Given the description of an element on the screen output the (x, y) to click on. 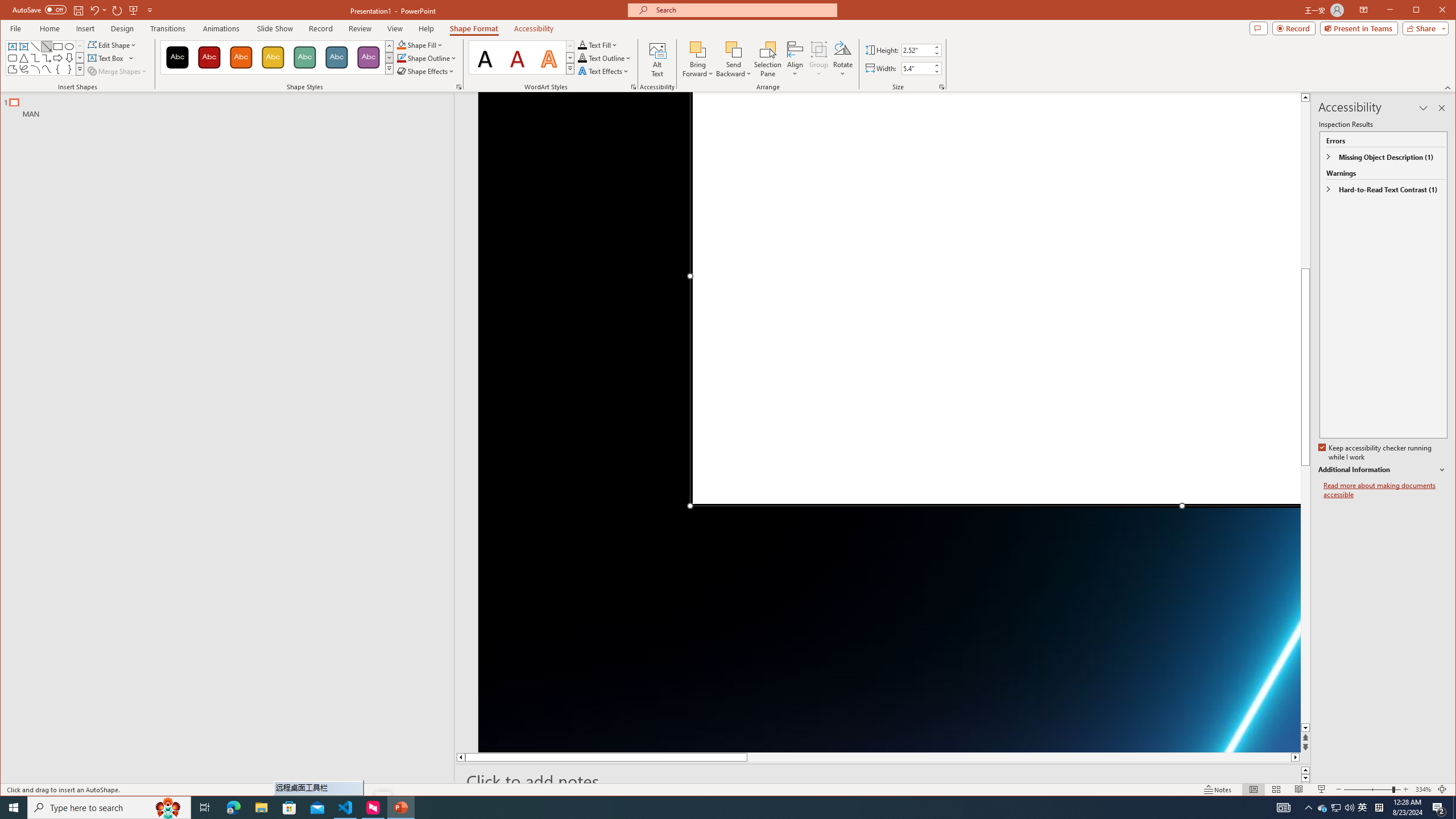
Edit Shape (112, 44)
Alt Text (657, 59)
Colored Fill - Black, Dark 1 (177, 57)
Page down (1305, 603)
Zoom 334% (1422, 789)
Shape Outline (426, 57)
Freeform: Shape (12, 69)
Rotate (842, 59)
Rectangle (58, 46)
Fill: Black, Text color 1; Shadow (486, 57)
